Given the description of an element on the screen output the (x, y) to click on. 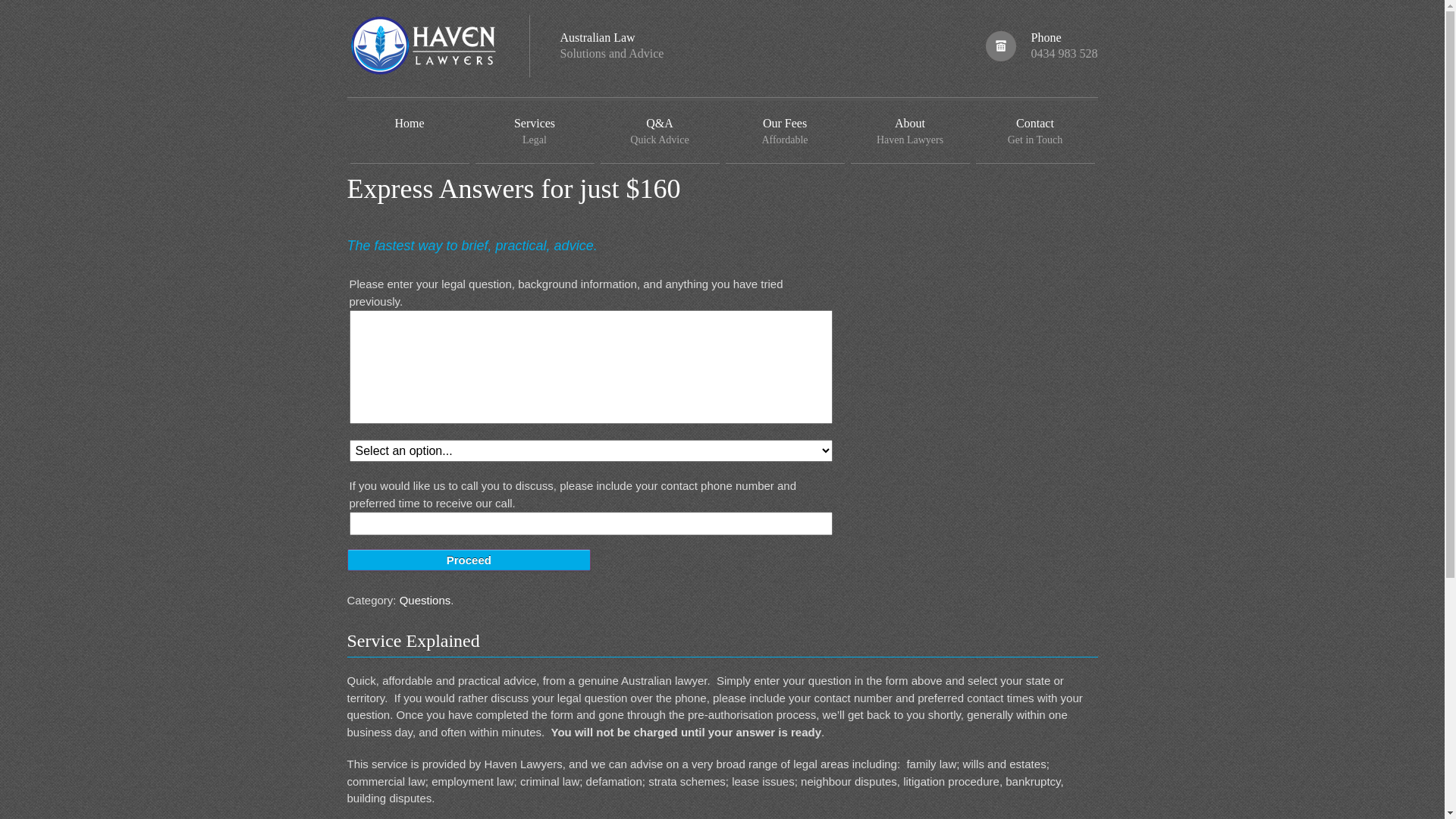
Our Fees
Affordable Element type: text (784, 131)
Contact
Get in Touch Element type: text (1034, 131)
Questions Element type: text (425, 599)
Home Element type: text (409, 131)
Services
Legal Element type: text (533, 131)
Q&A
Quick Advice Element type: text (659, 131)
About
Haven Lawyers Element type: text (909, 131)
Proceed Element type: text (469, 560)
